Given the description of an element on the screen output the (x, y) to click on. 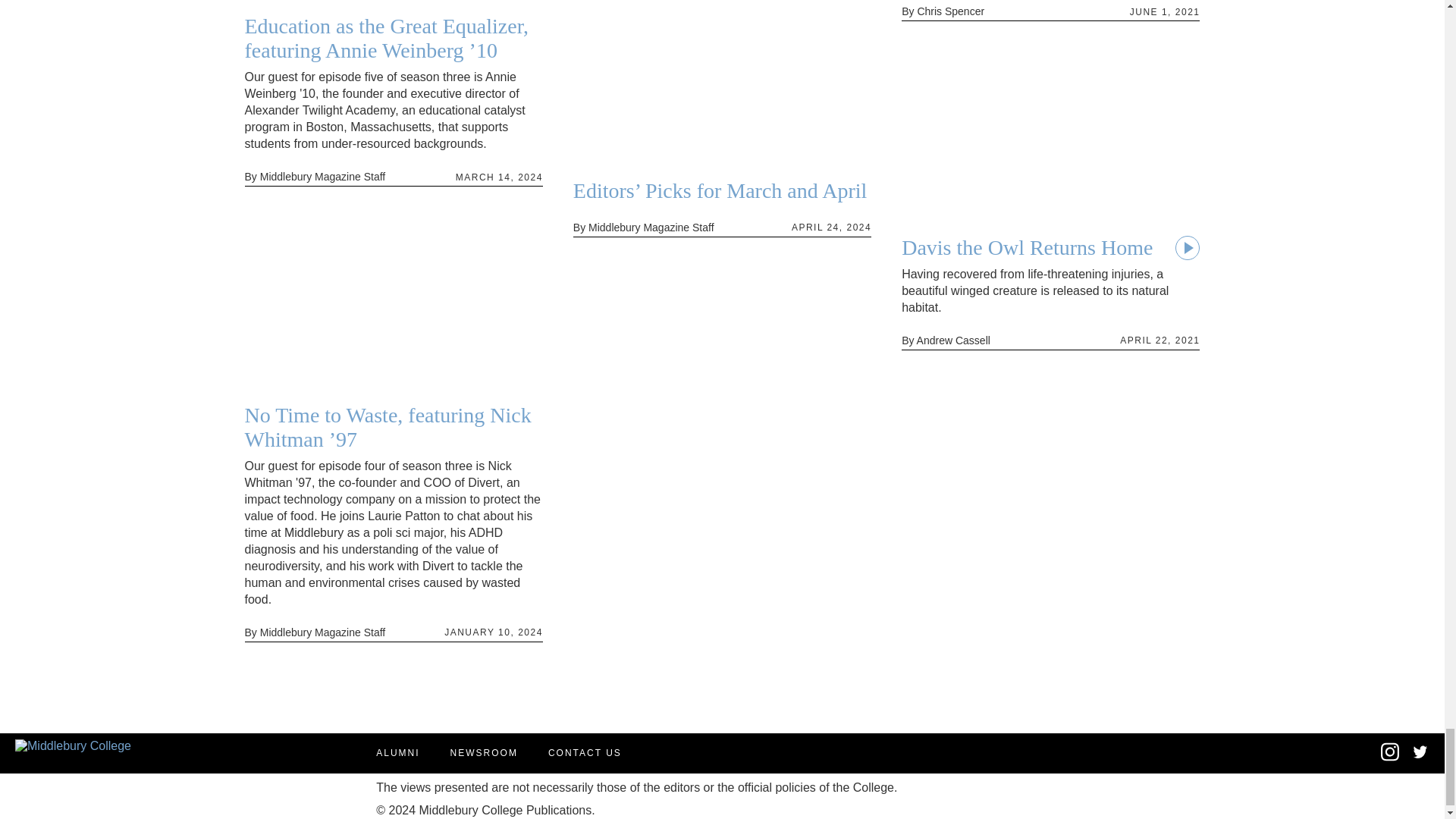
icon-instagram (1389, 751)
Follow us on Instagram (1389, 758)
Follow us on Twitter (1419, 753)
